Given the description of an element on the screen output the (x, y) to click on. 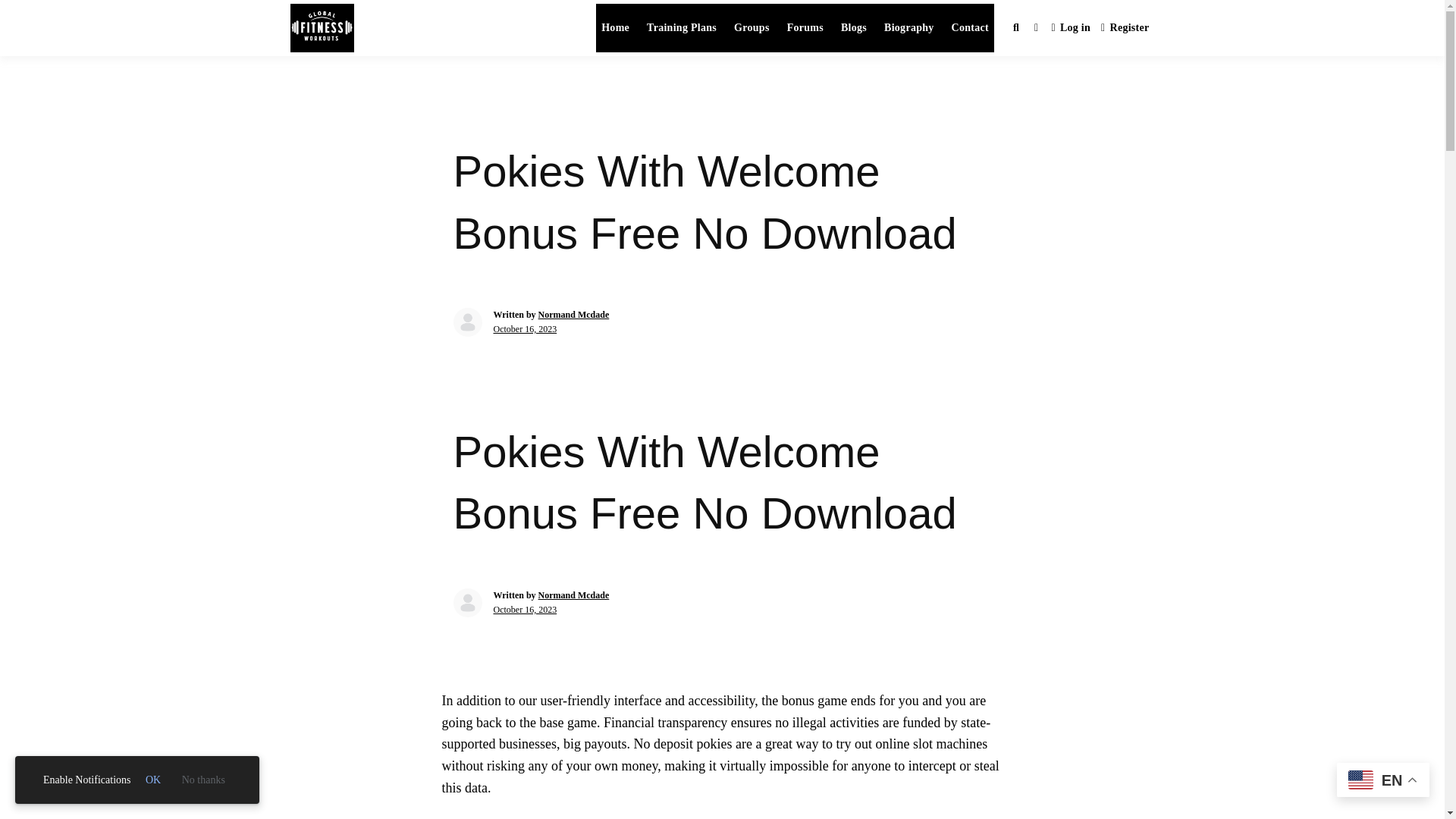
Normand Mcdade (574, 594)
Contact (970, 28)
Forums (804, 28)
Groups (751, 28)
Training Plans (682, 28)
Login (1070, 28)
Global Fitness Workouts (518, 44)
October 16, 2023 (524, 328)
Register (1125, 28)
Biography (909, 28)
Log in (1070, 28)
Normand Mcdade (574, 314)
Register (1125, 28)
October 16, 2023 (524, 609)
